Given the description of an element on the screen output the (x, y) to click on. 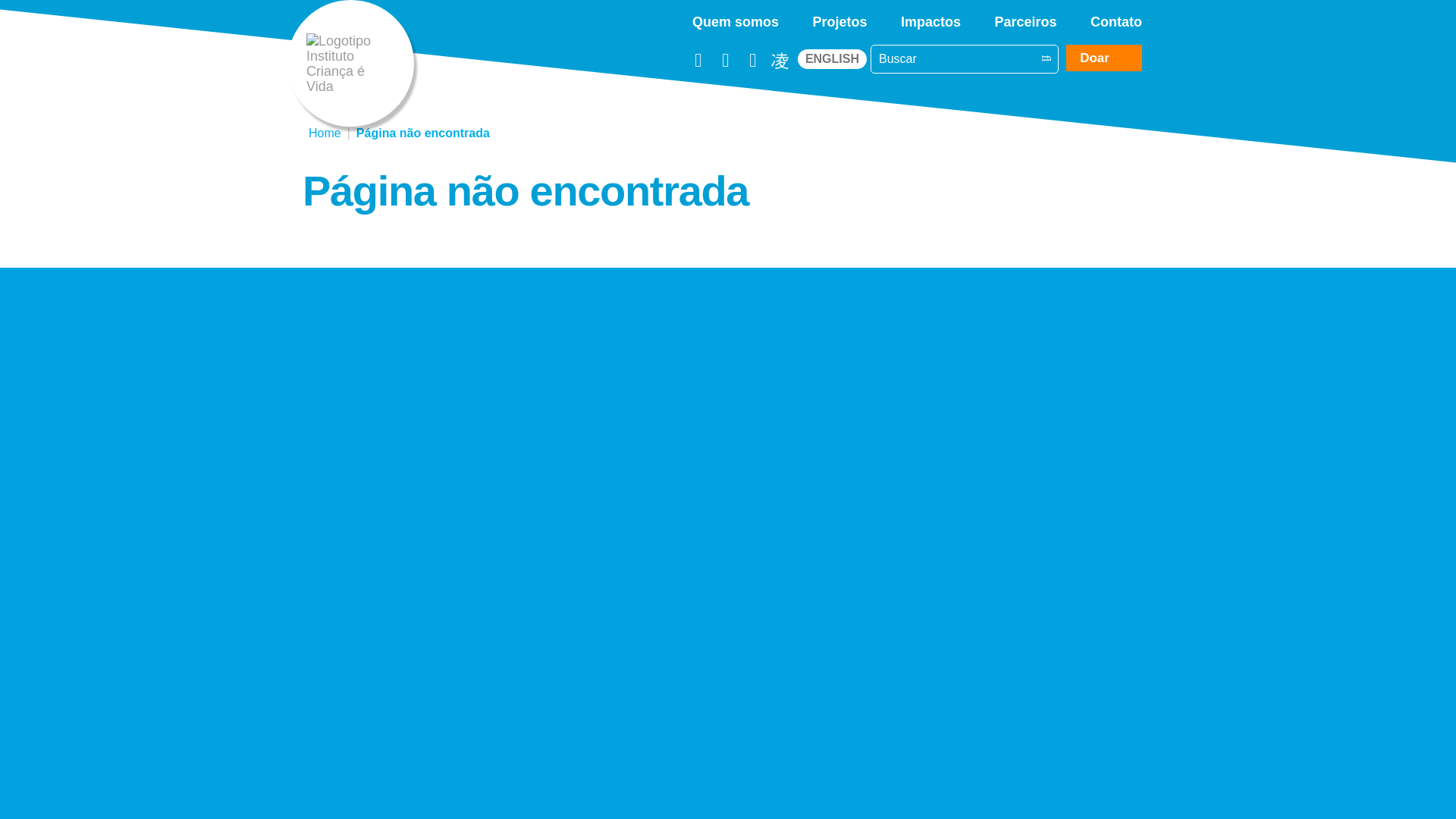
Impactos (930, 19)
Quem somos (735, 19)
Contato (1115, 19)
Pesquisar (1044, 58)
YouTube (725, 58)
Facebook (697, 58)
Projetos (839, 19)
Parceiros (1025, 19)
Curta no Facebook (697, 58)
Saiba mais no Linkedin (752, 58)
Siga nosso Instagram (780, 58)
Doar (1103, 58)
Assista no YouTube (725, 58)
